Given the description of an element on the screen output the (x, y) to click on. 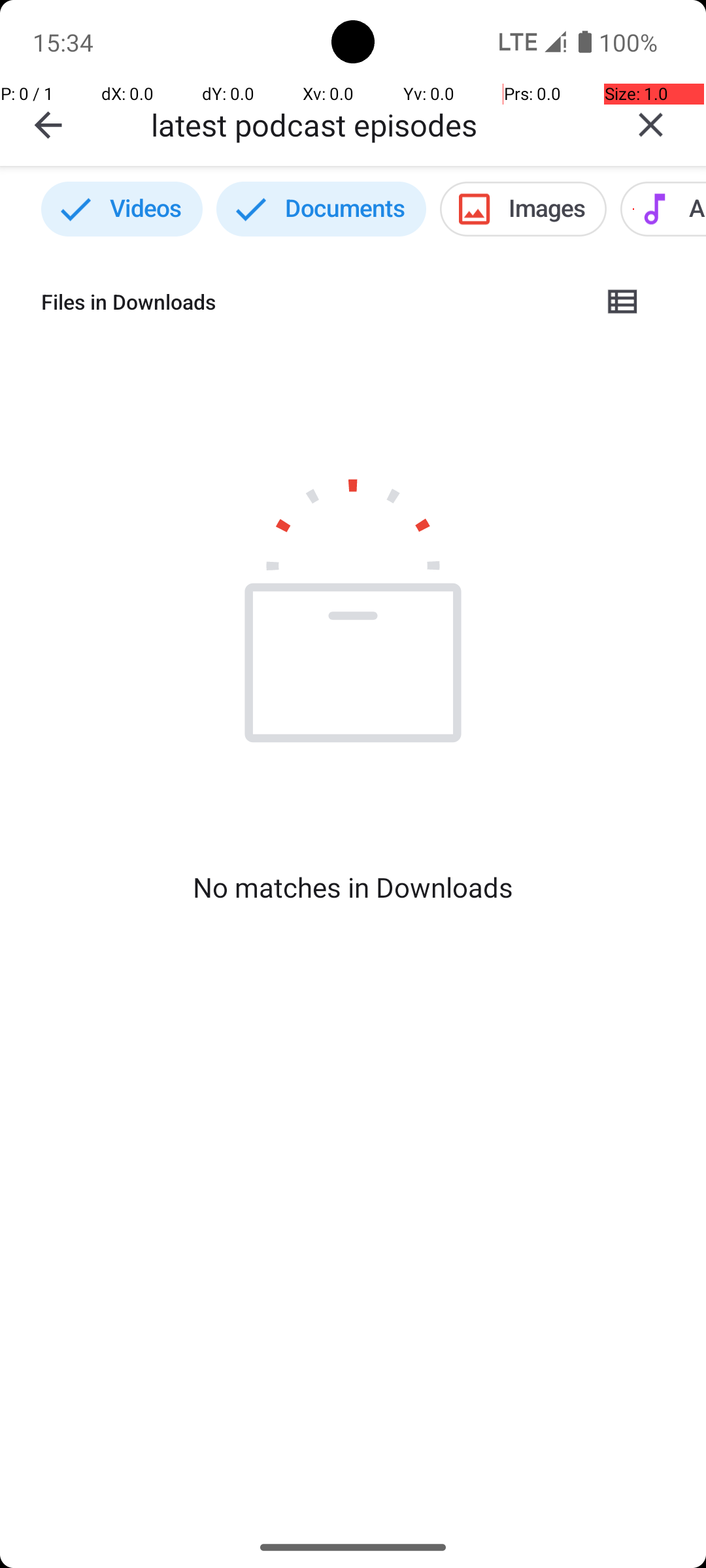
latest podcast episodes Element type: android.widget.AutoCompleteTextView (373, 124)
Clear query Element type: android.widget.ImageView (650, 124)
